Given the description of an element on the screen output the (x, y) to click on. 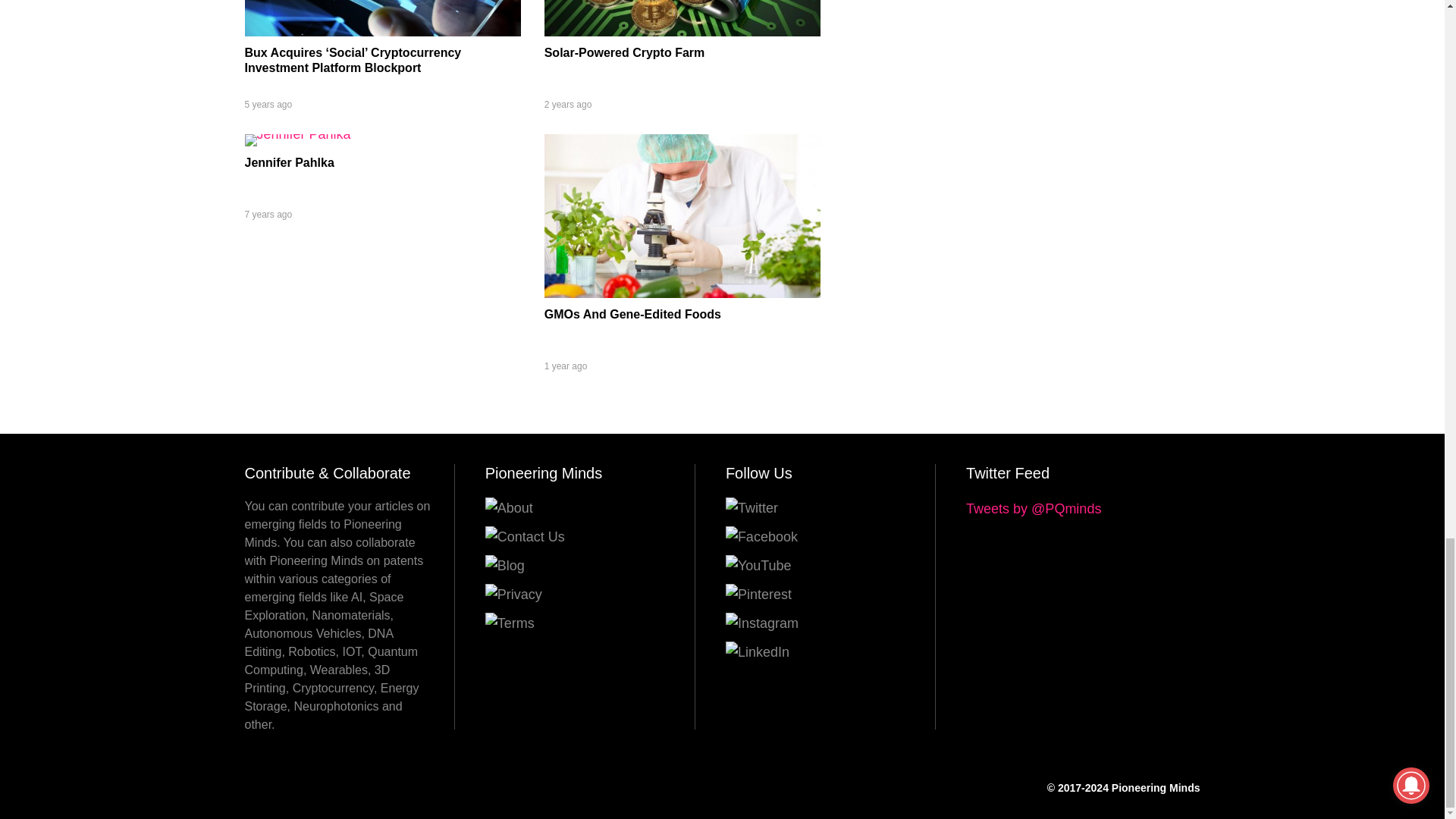
Jennifer Pahlka (288, 162)
Solar-Powered Crypto Farm (624, 51)
Jennifer Pahlka (297, 133)
GMOs And Gene-Edited Foods (682, 293)
Solar-Powered Crypto Farm (682, 31)
GMOs And Gene-Edited Foods (632, 314)
